Given the description of an element on the screen output the (x, y) to click on. 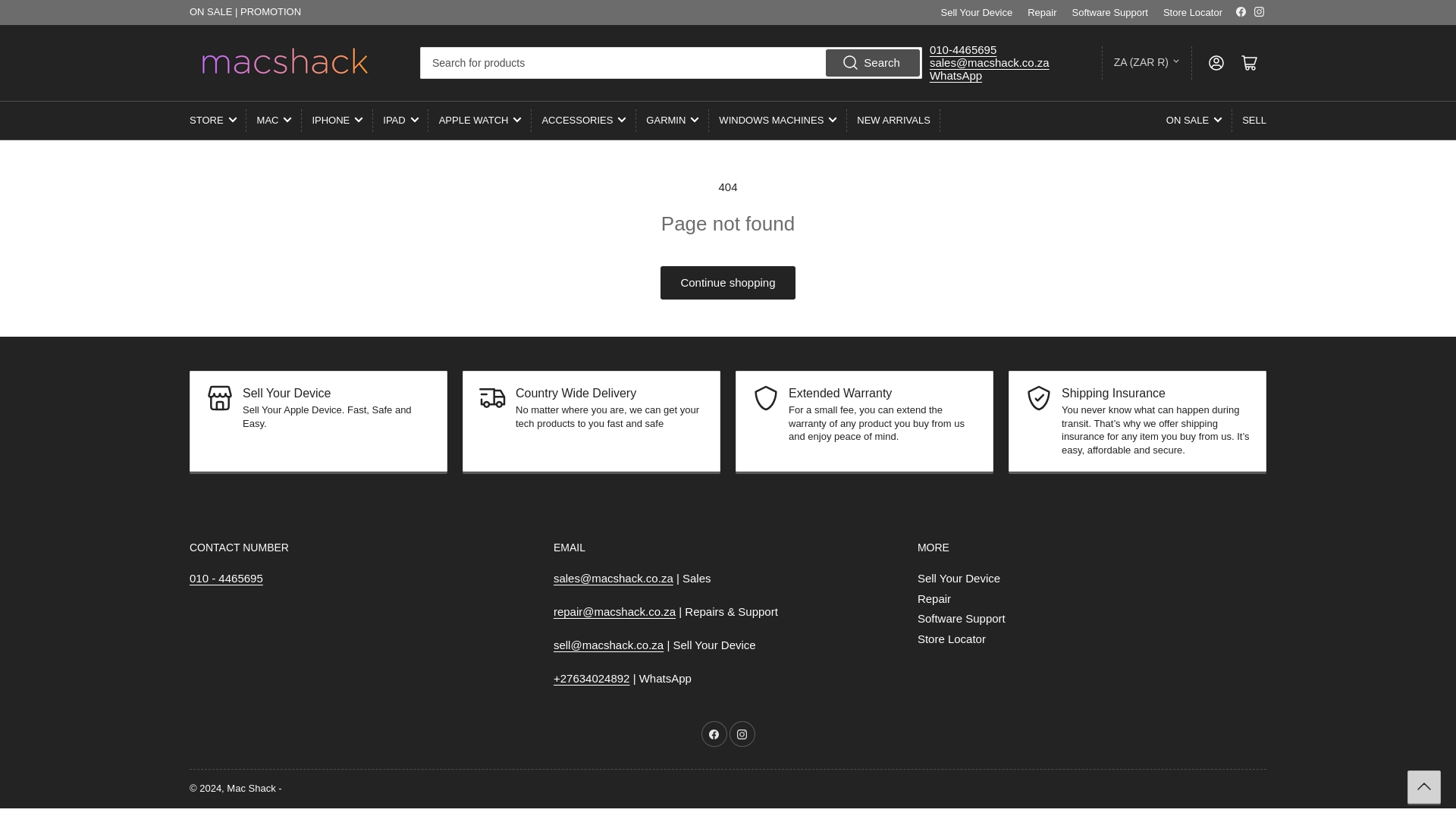
tel:0104465695 (962, 49)
Software Support (1109, 12)
tel:0104465695 (226, 577)
Repair (1042, 12)
010-4465695 (962, 49)
Sell Your Device (976, 12)
Open mini cart (1249, 61)
Search (872, 62)
Store Locator (1193, 12)
Instagram (1259, 11)
